Given the description of an element on the screen output the (x, y) to click on. 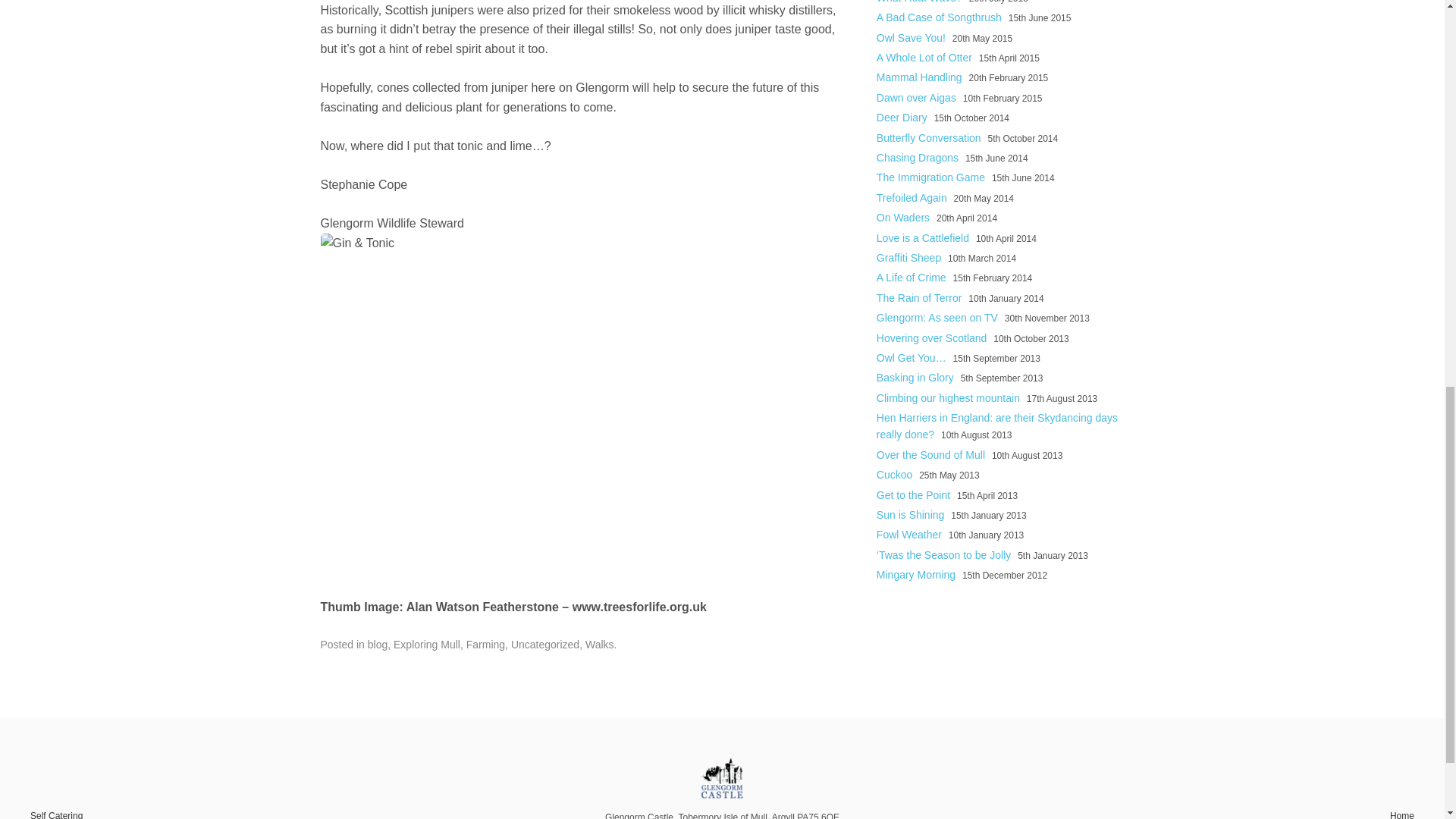
Exploring Mull (426, 644)
Farming (485, 644)
Uncategorized (545, 644)
blog (377, 644)
Walks (599, 644)
